Given the description of an element on the screen output the (x, y) to click on. 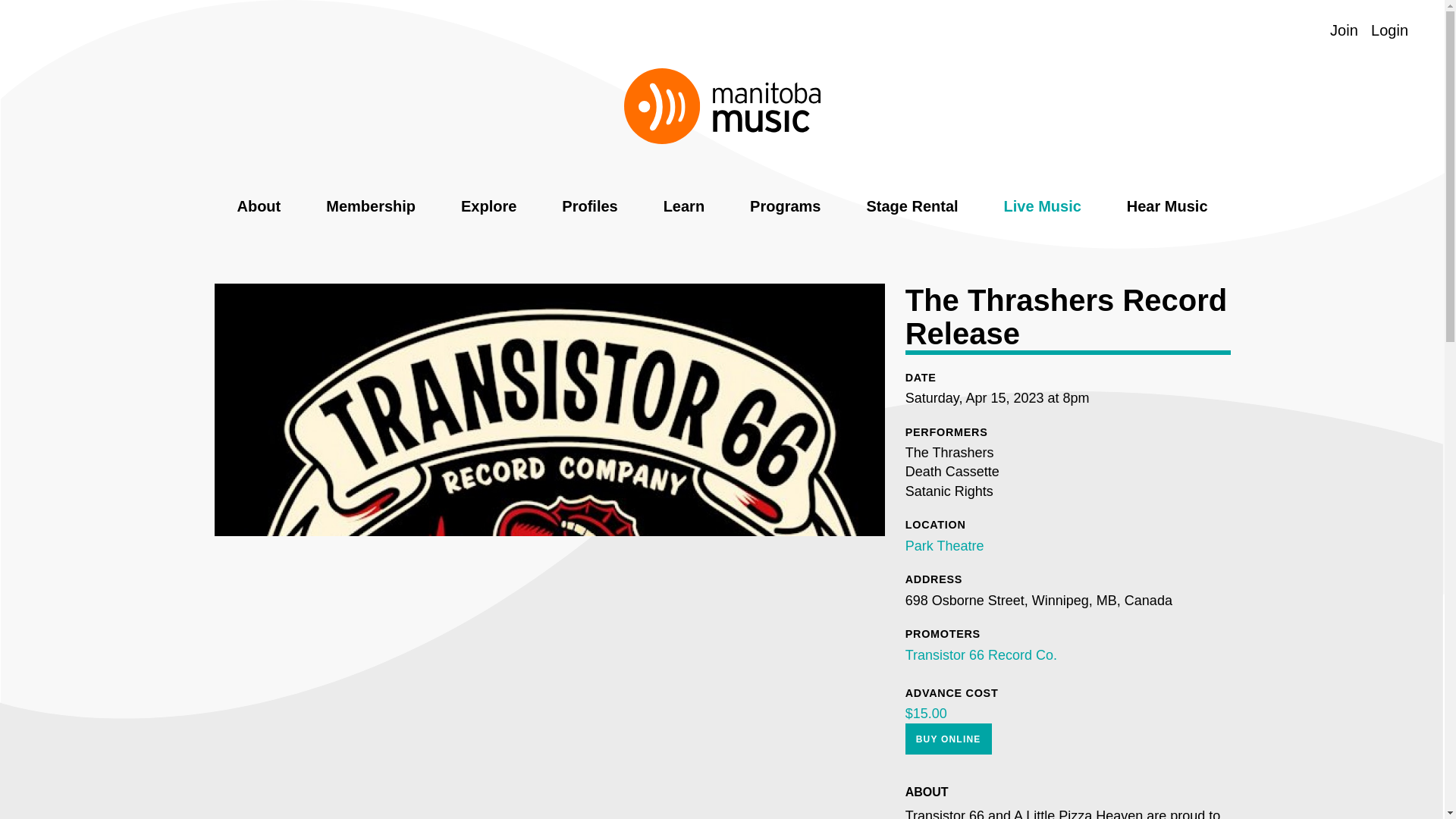
Join Manitoba Music by Becoming a Member (1343, 30)
Like us on Facebook (70, 31)
Indigenous Music (1308, 30)
Search Manitoba Music (1248, 30)
Twitter (95, 31)
Subscribe on YouTube (125, 31)
RSS (185, 31)
Facebook (70, 31)
Follow us on Twitter (95, 31)
MANITOBA MUSIC (721, 105)
